Given the description of an element on the screen output the (x, y) to click on. 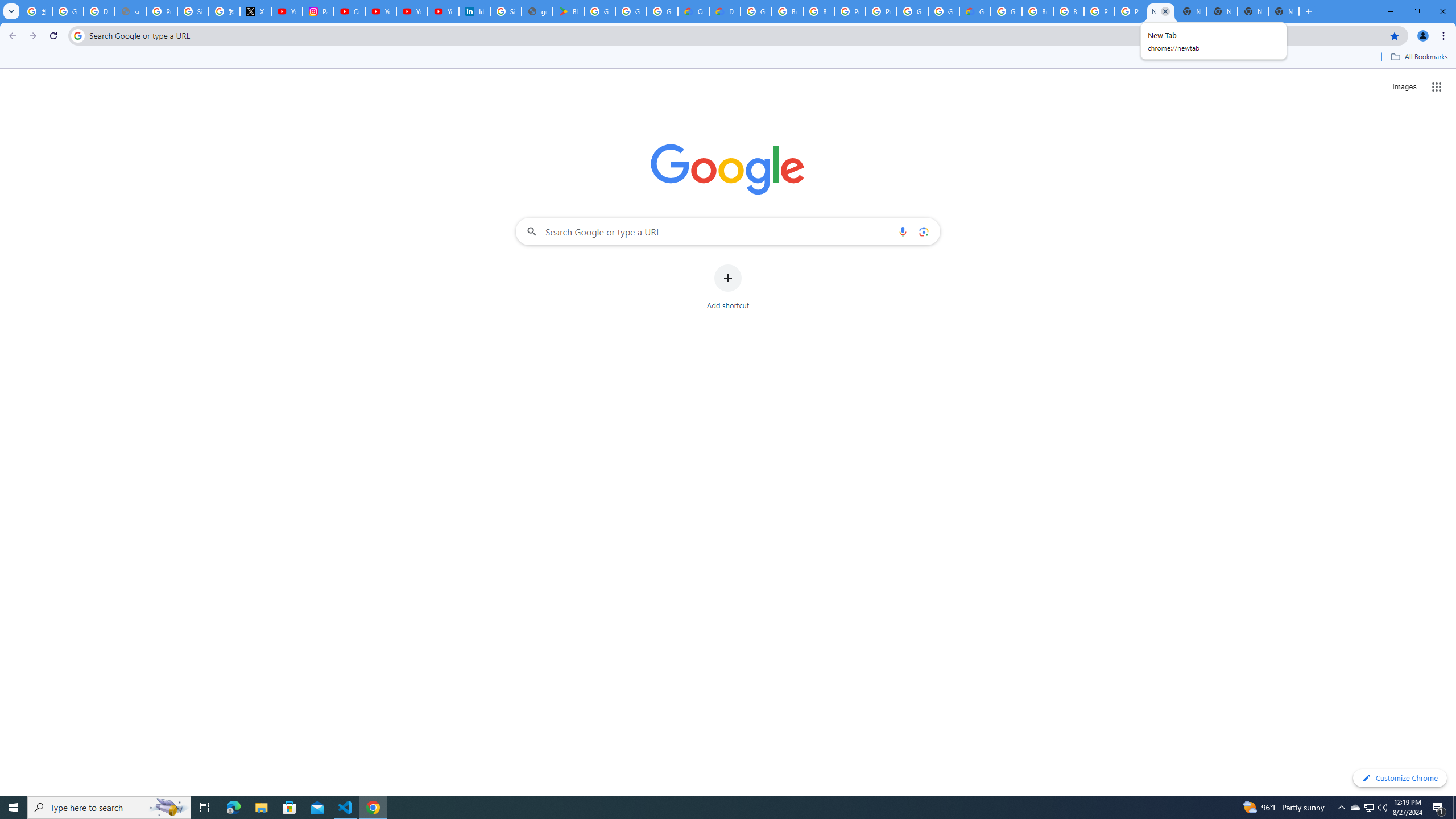
Add shortcut (727, 287)
New Tab (1283, 11)
support.google.com - Network error (130, 11)
